Given the description of an element on the screen output the (x, y) to click on. 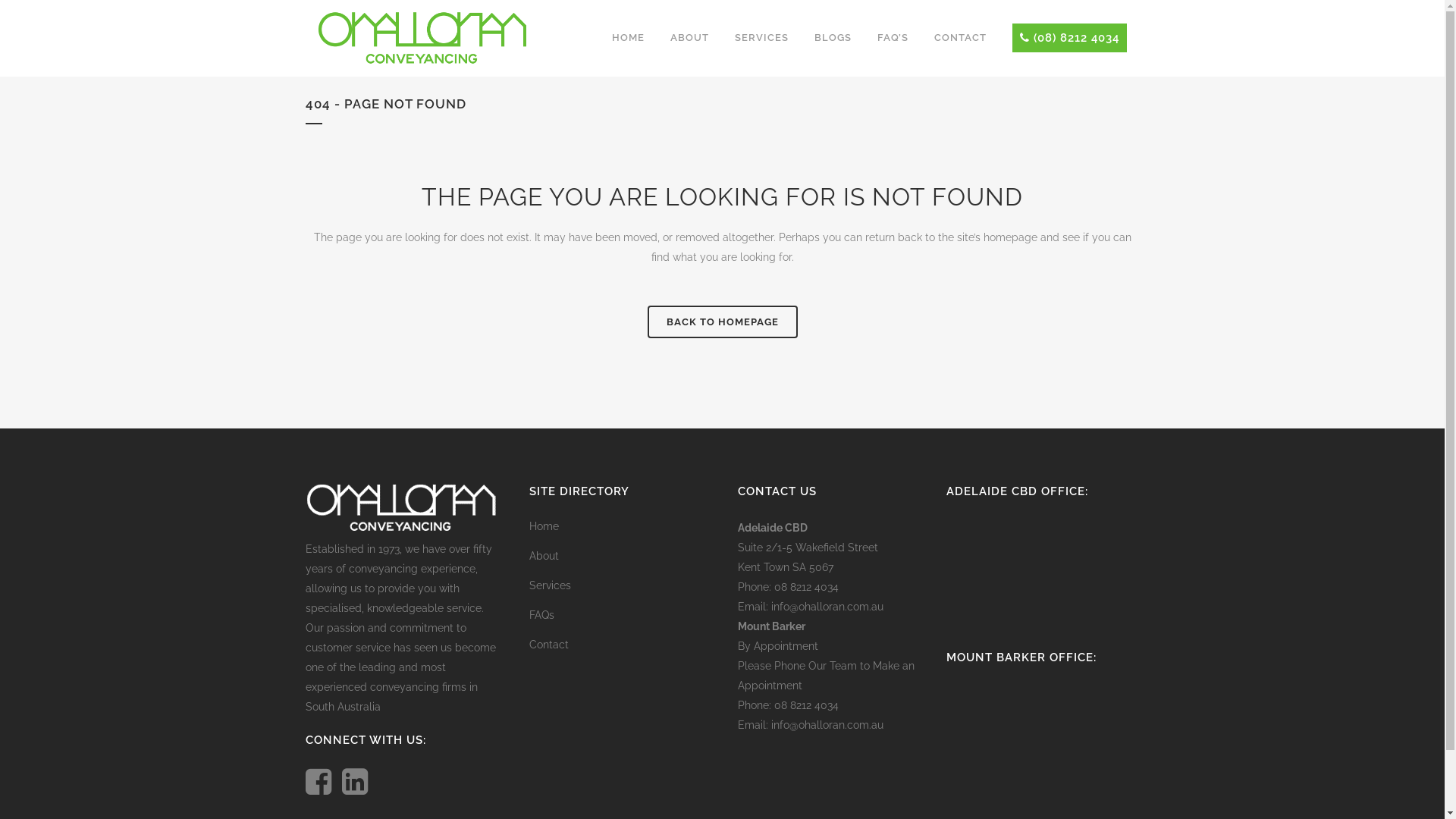
Suite 2/1-5 Wakefield Street
Kent Town SA 5067 Element type: text (807, 557)
HOME Element type: text (628, 37)
Contact Element type: text (622, 644)
BLOGS Element type: text (831, 37)
Services Element type: text (622, 585)
SERVICES Element type: text (761, 37)
About Element type: text (622, 555)
ABOUT Element type: text (688, 37)
info@ohalloran.com.au Element type: text (826, 606)
info@ohalloran.com.au Element type: text (826, 724)
FAQs Element type: text (622, 614)
CONTACT Element type: text (959, 37)
(08) 8212 4034 Element type: text (1069, 38)
BACK TO HOMEPAGE Element type: text (722, 321)
08 8212 4034 Element type: text (805, 705)
Home Element type: text (622, 525)
08 8212 4034 Element type: text (805, 586)
